Given the description of an element on the screen output the (x, y) to click on. 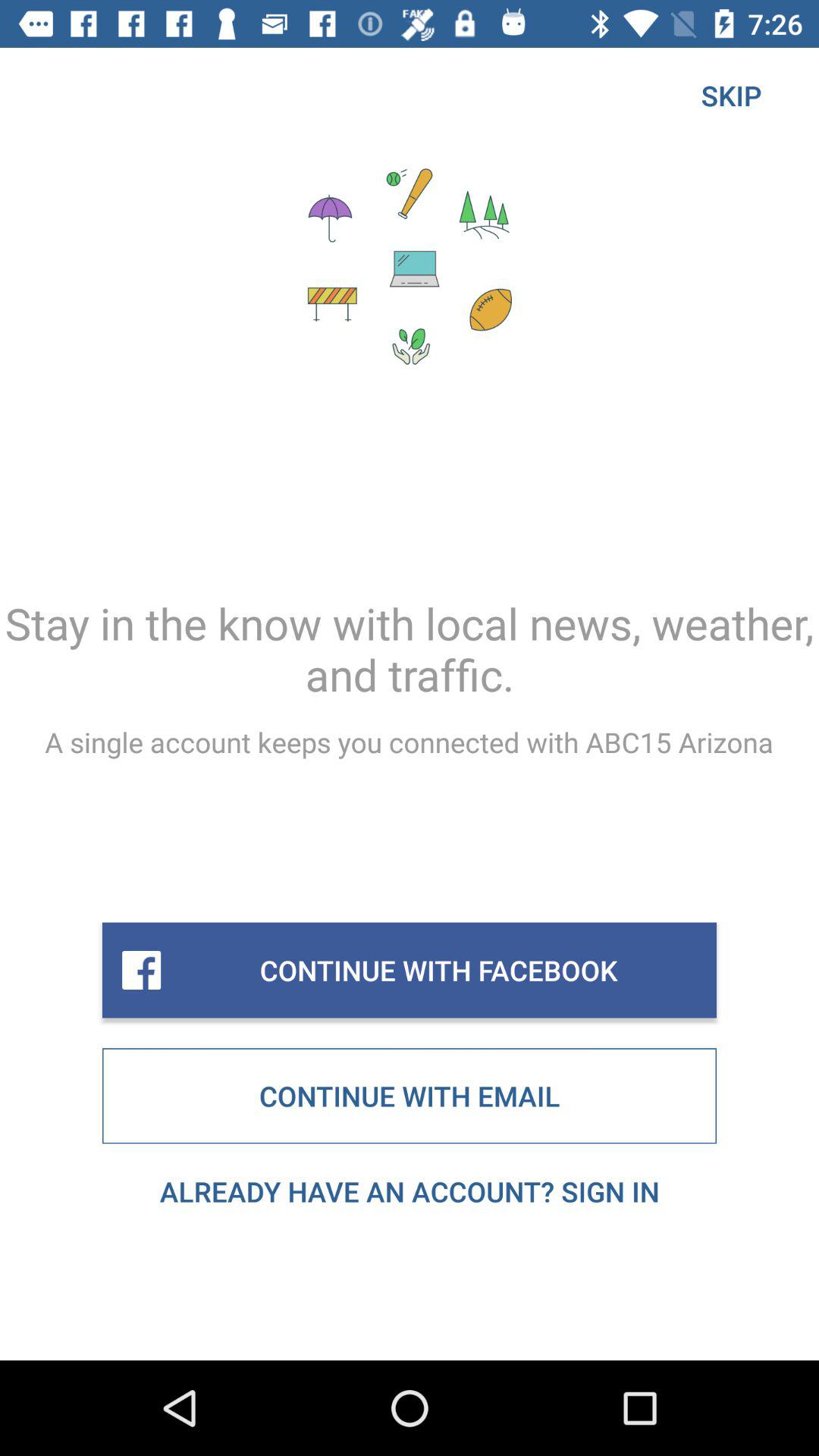
launch icon below the continue with email item (409, 1191)
